Given the description of an element on the screen output the (x, y) to click on. 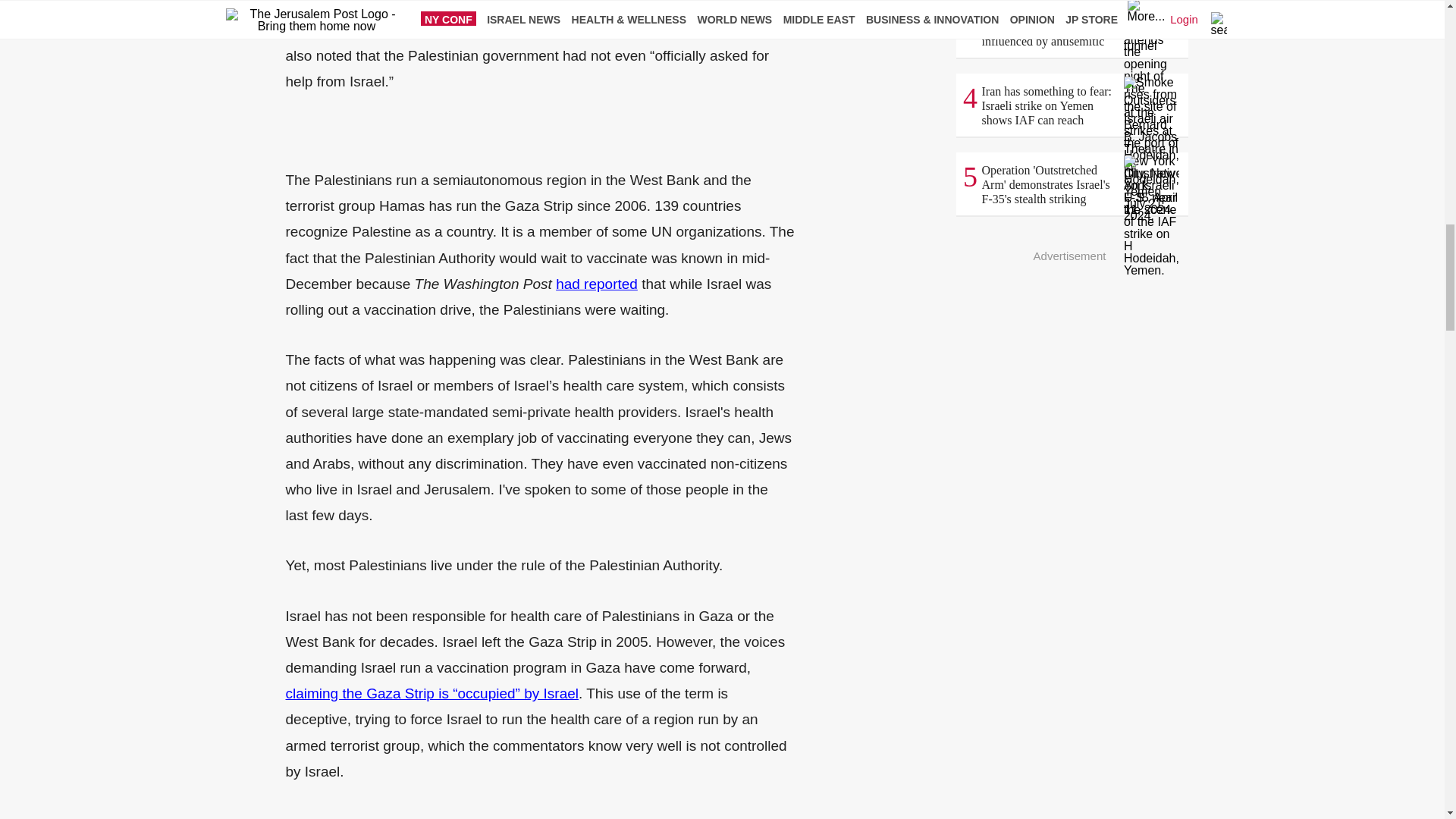
had reported (596, 283)
